Given the description of an element on the screen output the (x, y) to click on. 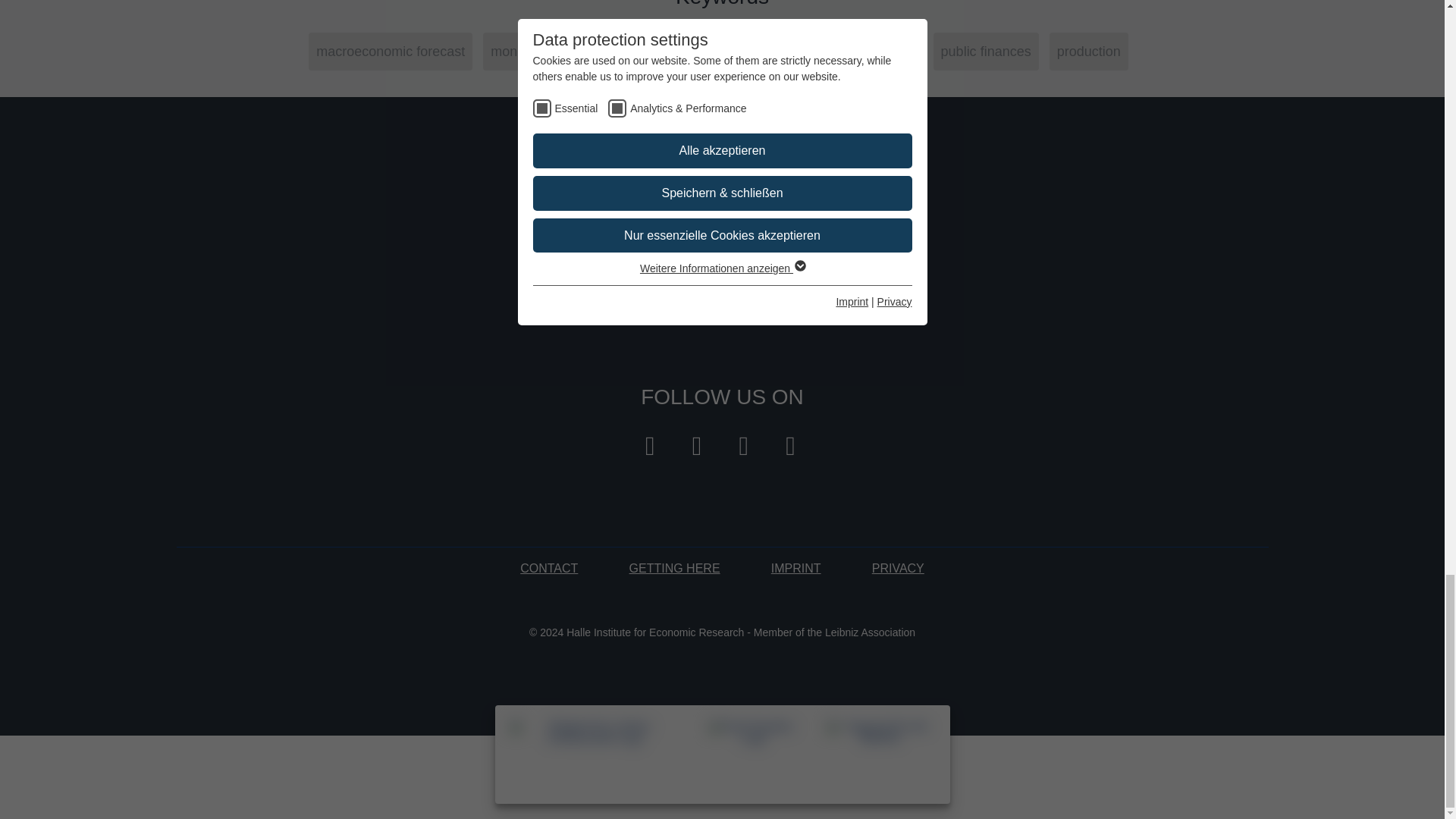
send (839, 251)
